Given the description of an element on the screen output the (x, y) to click on. 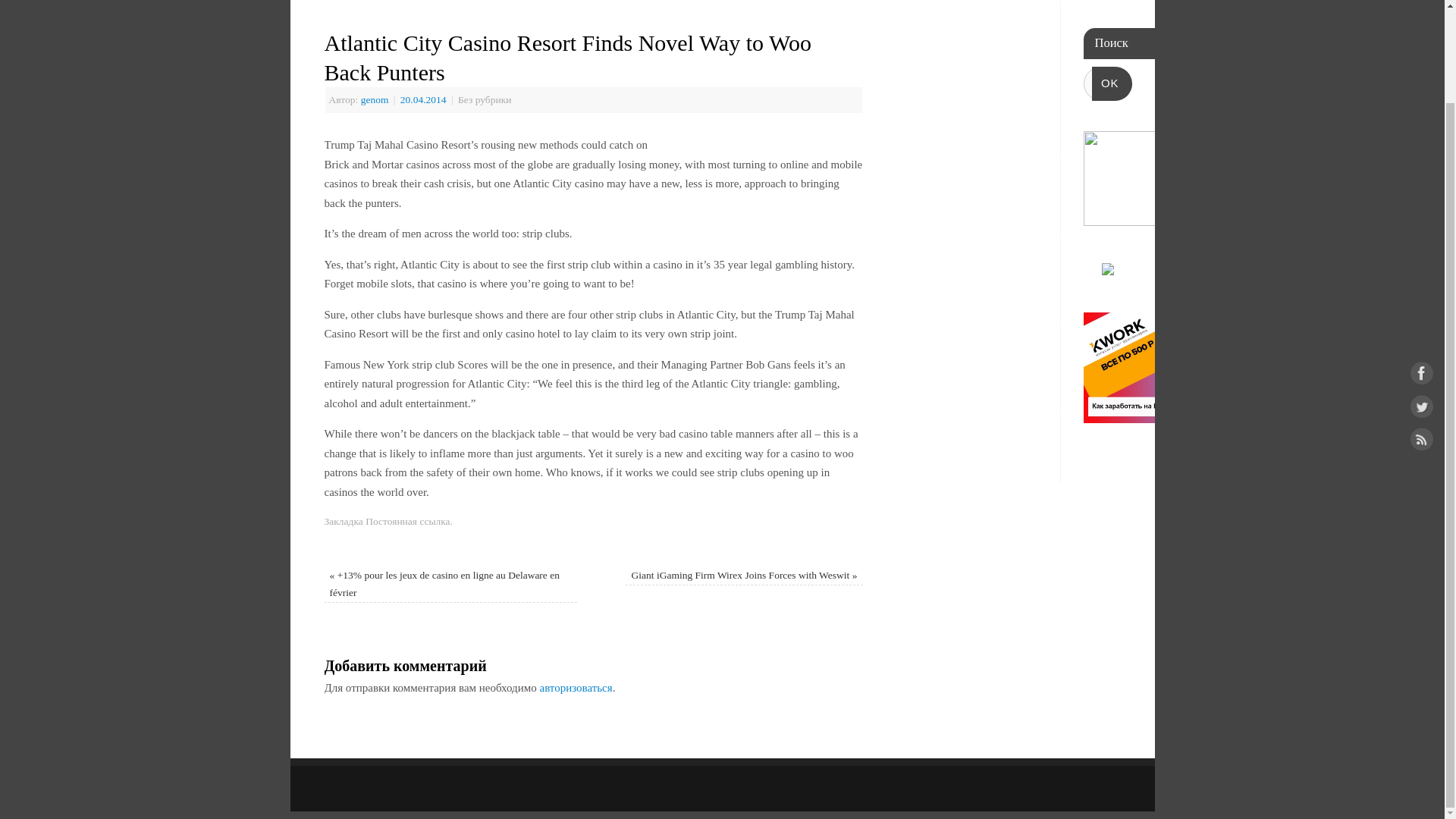
genom (374, 99)
00:53 (424, 99)
OK (1112, 83)
20.04.2014 (424, 99)
